Given the description of an element on the screen output the (x, y) to click on. 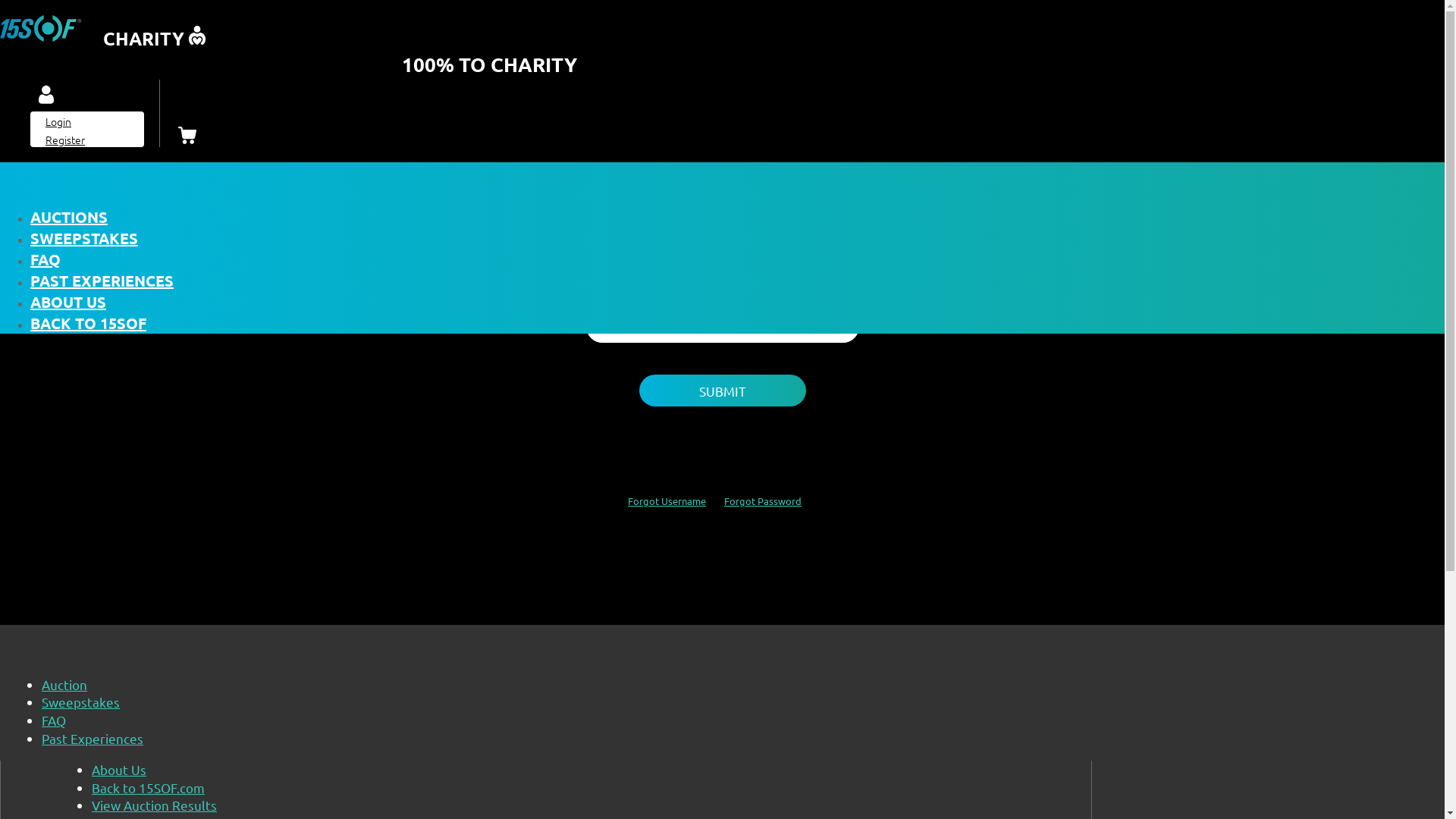
Auction Element type: text (64, 684)
Login Element type: text (58, 121)
Back to 15SOF.com Element type: text (147, 787)
BACK TO 15SOF Element type: text (88, 323)
ACCOUNT ACCOUNT ICON Element type: text (46, 95)
Past Experiences Element type: text (92, 738)
Submit Element type: text (721, 390)
Forgot Username Element type: text (666, 500)
PAST EXPERIENCES Element type: text (101, 280)
Register Element type: text (65, 139)
FAQ Element type: text (45, 259)
Register here Element type: text (792, 183)
AUCTIONS Element type: text (68, 216)
ABOUT US Element type: text (68, 301)
Forgot Password Element type: text (762, 500)
SWEEPSTAKES Element type: text (84, 238)
About Us Element type: text (118, 769)
CHARITY Element type: text (102, 35)
Sweepstakes Element type: text (80, 701)
FAQ Element type: text (53, 720)
View Auction Results Element type: text (153, 804)
